Given the description of an element on the screen output the (x, y) to click on. 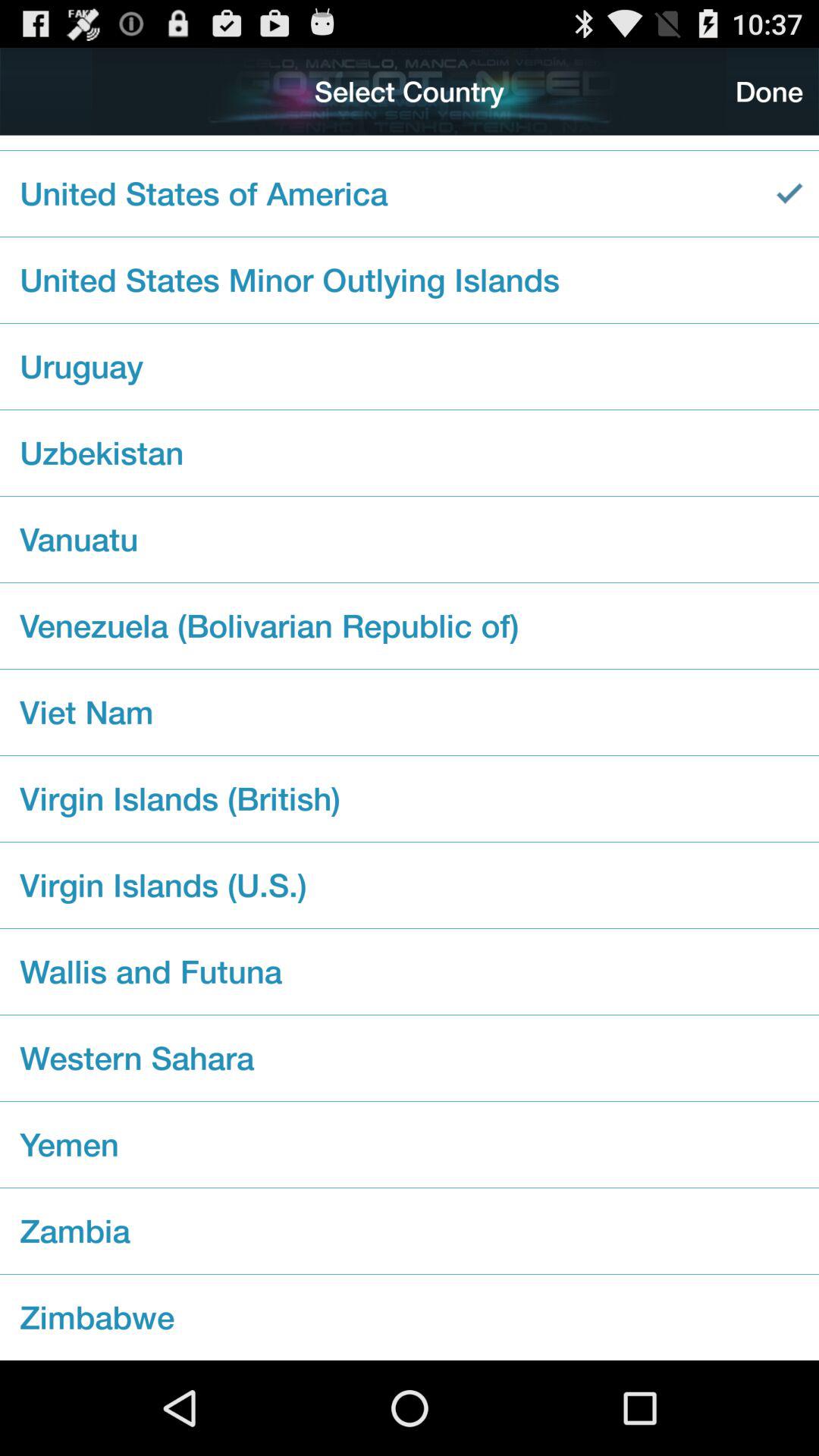
select the uruguay icon (409, 366)
